Given the description of an element on the screen output the (x, y) to click on. 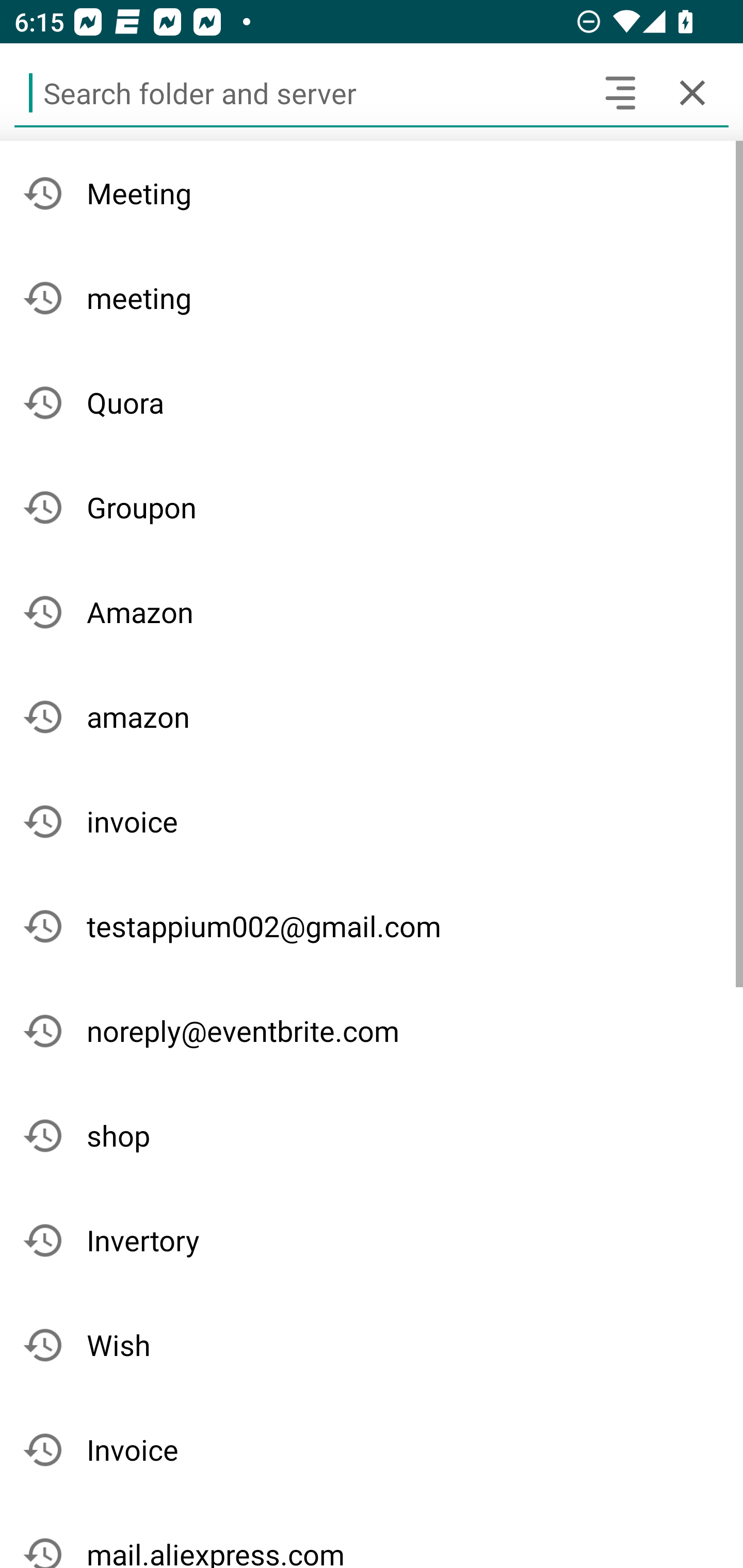
   Search folder and server (298, 92)
Search headers and text (619, 92)
Cancel (692, 92)
